Given the description of an element on the screen output the (x, y) to click on. 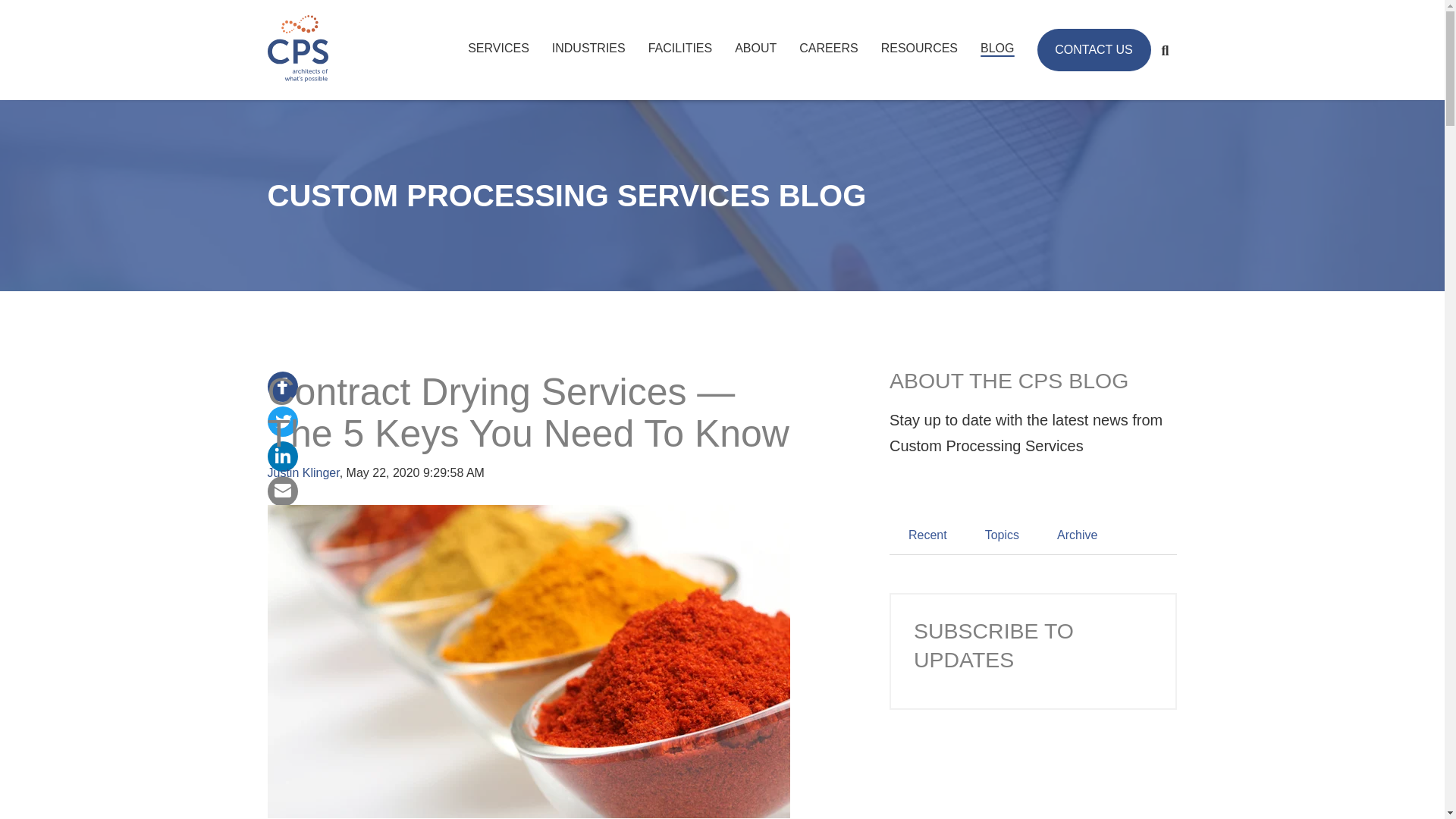
Facebook (281, 385)
Twitter (281, 420)
Email (281, 490)
LinkedIn (281, 455)
SERVICES (498, 47)
INDUSTRIES (588, 47)
FACILITIES (679, 47)
